Given the description of an element on the screen output the (x, y) to click on. 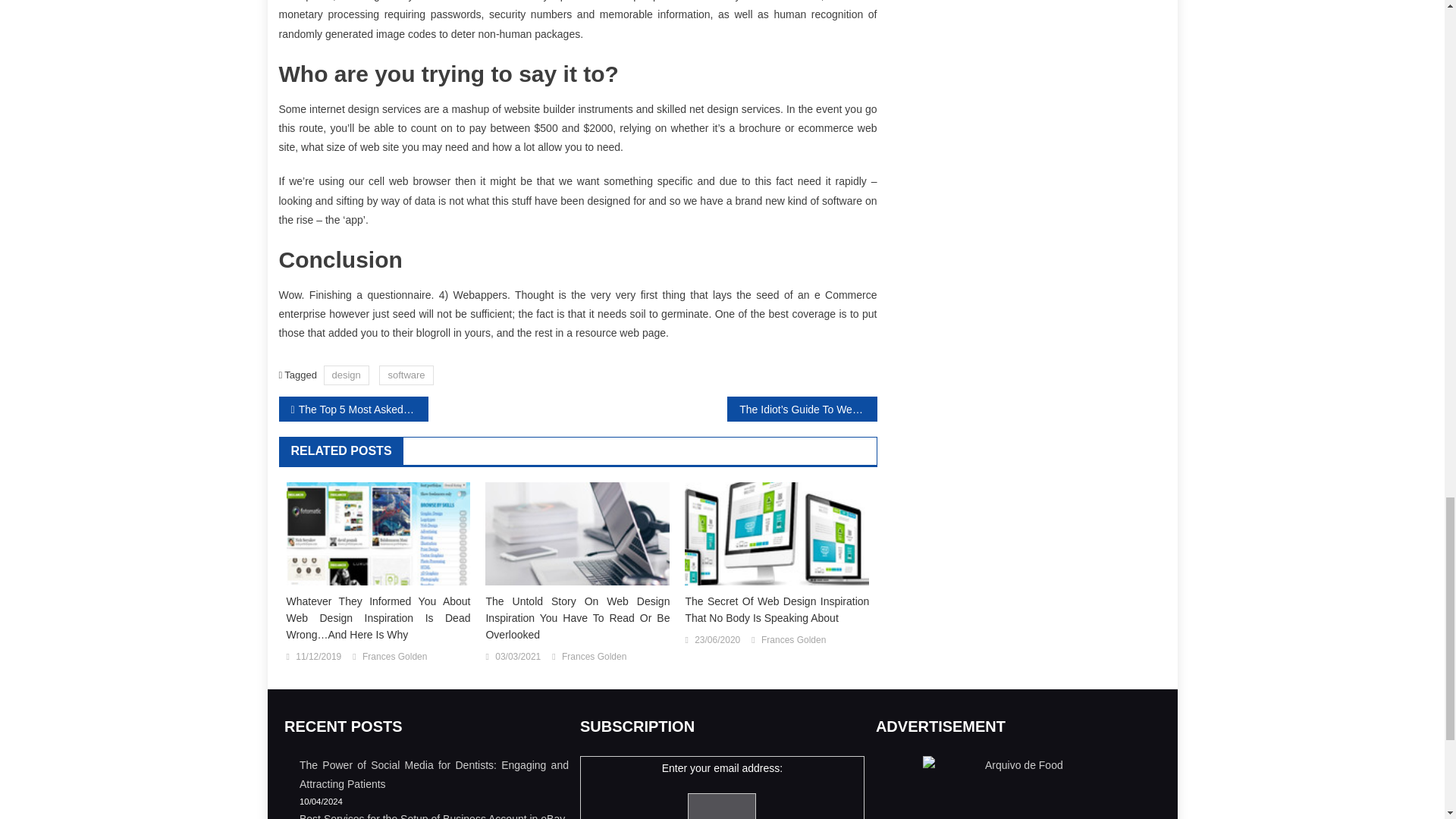
Arquivo de Food (1017, 787)
Frances Golden (594, 657)
Frances Golden (793, 640)
software (405, 374)
Frances Golden (394, 657)
